Given the description of an element on the screen output the (x, y) to click on. 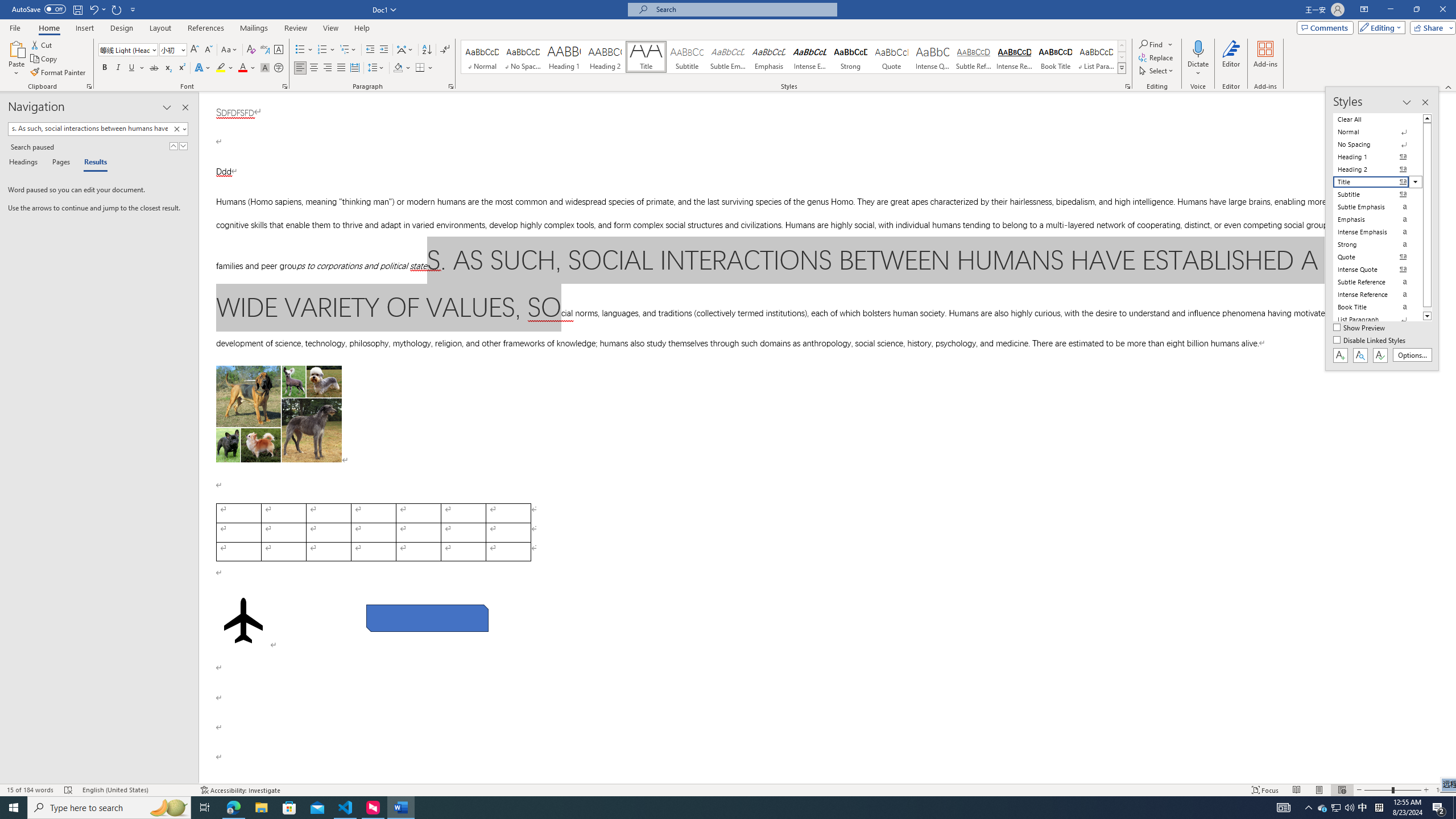
Options... (1412, 354)
List Paragraph (1377, 319)
Editing (1379, 27)
Title (646, 56)
